Given the description of an element on the screen output the (x, y) to click on. 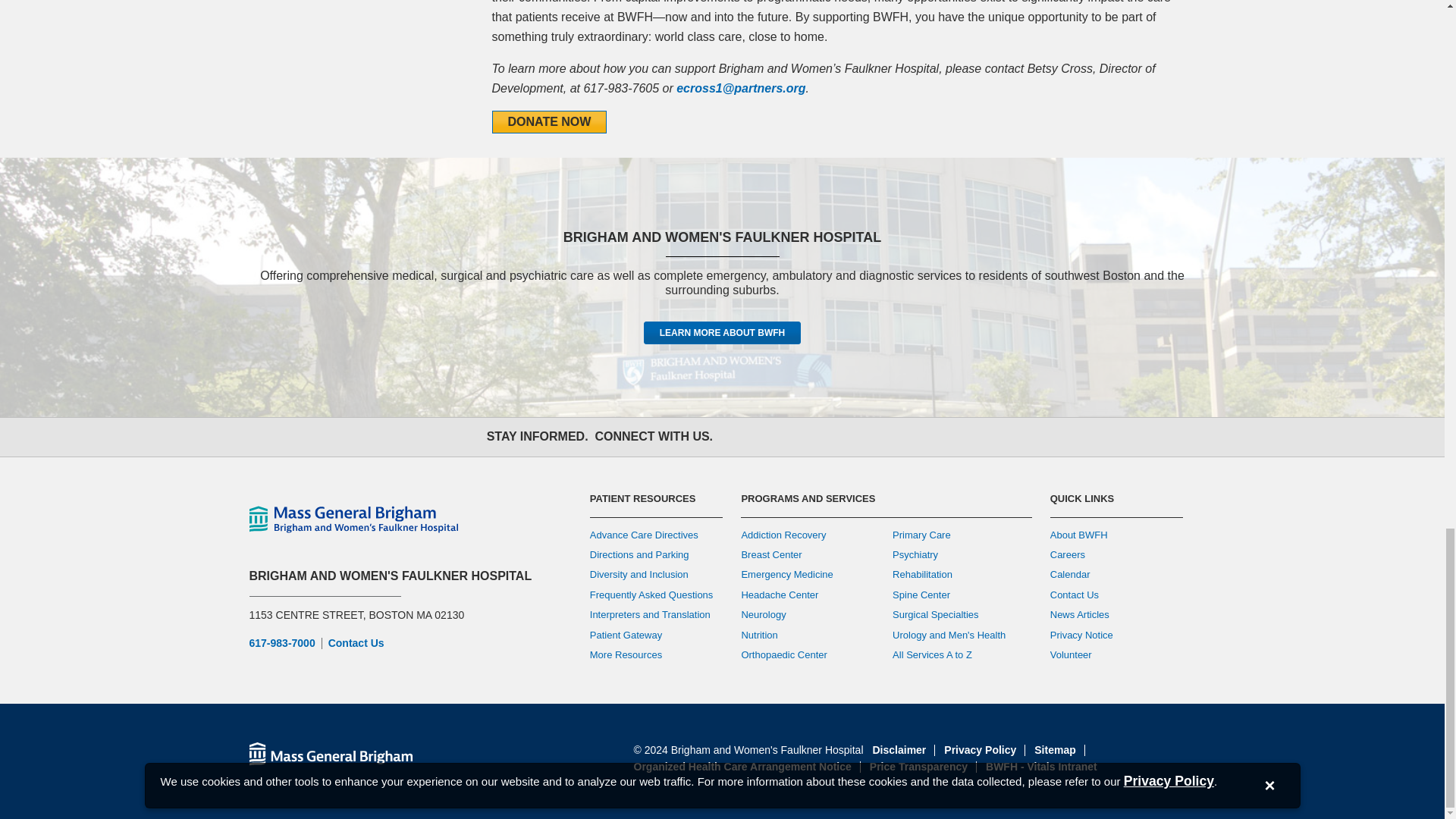
Twitter (772, 436)
Instagram (804, 436)
Newsroom (905, 436)
YouTube (838, 436)
LinkedIn (871, 436)
DONATE NOW (549, 121)
Facebook (738, 436)
